Given the description of an element on the screen output the (x, y) to click on. 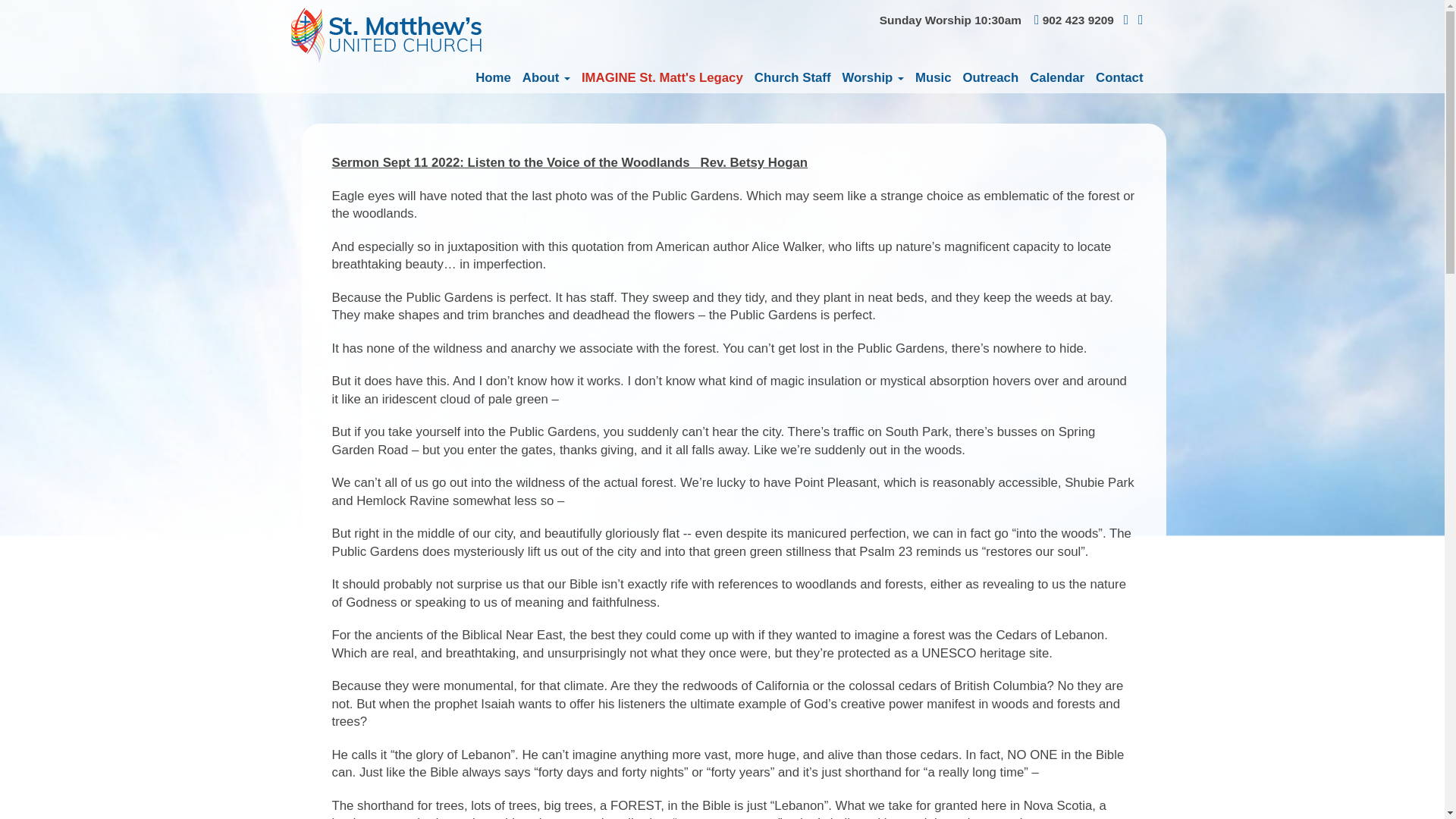
Calendar (1050, 78)
Church Staff (786, 78)
Home (487, 78)
About (540, 78)
IMAGINE St. Matt's Legacy (656, 78)
Worship (865, 78)
Music (928, 78)
Outreach (985, 78)
Contact (1113, 78)
